Given the description of an element on the screen output the (x, y) to click on. 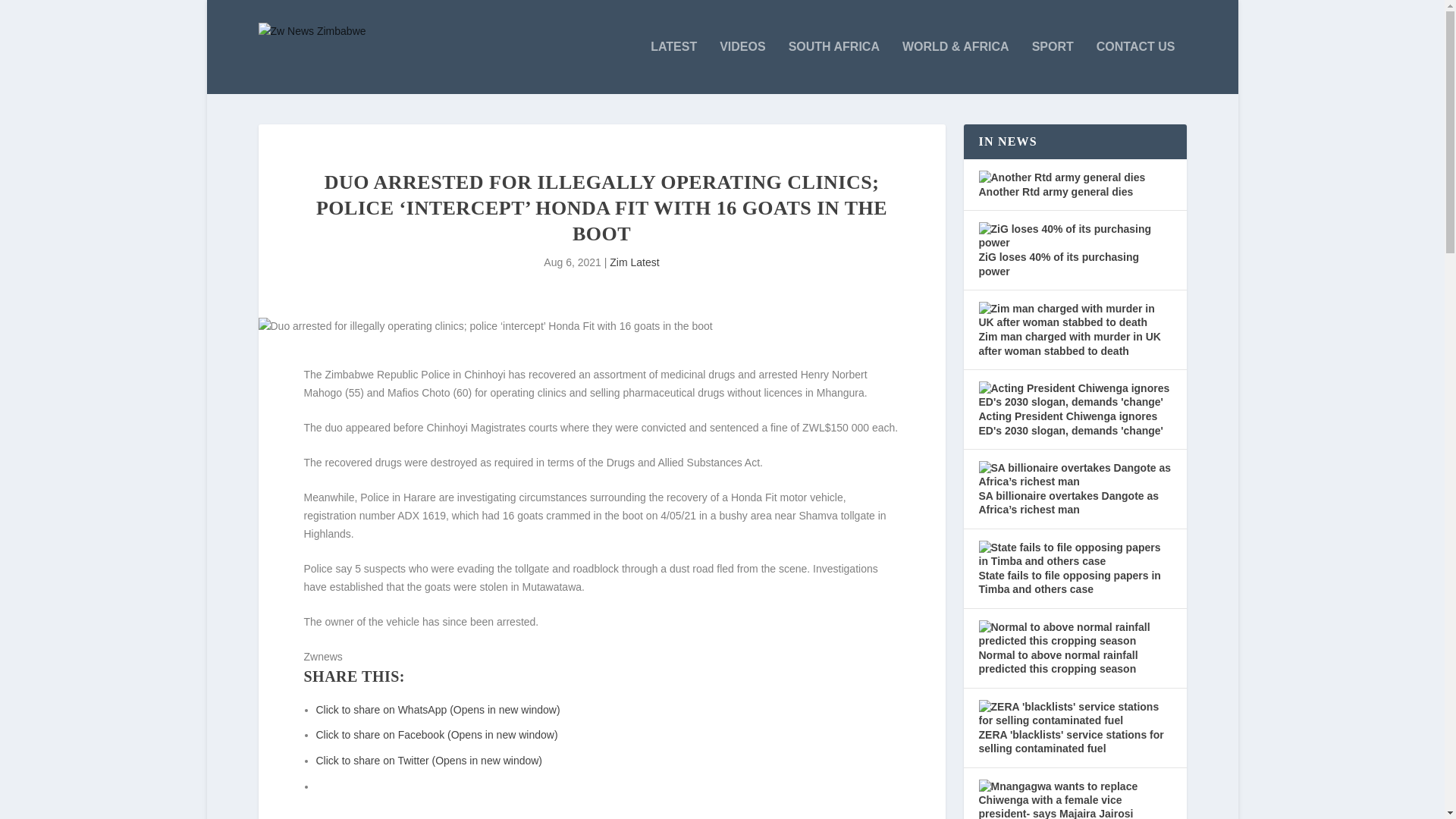
SOUTH AFRICA (834, 67)
Click to share on Facebook (436, 734)
Click to share on Twitter (428, 760)
Zim Latest (634, 262)
Click to share on WhatsApp (437, 709)
